Given the description of an element on the screen output the (x, y) to click on. 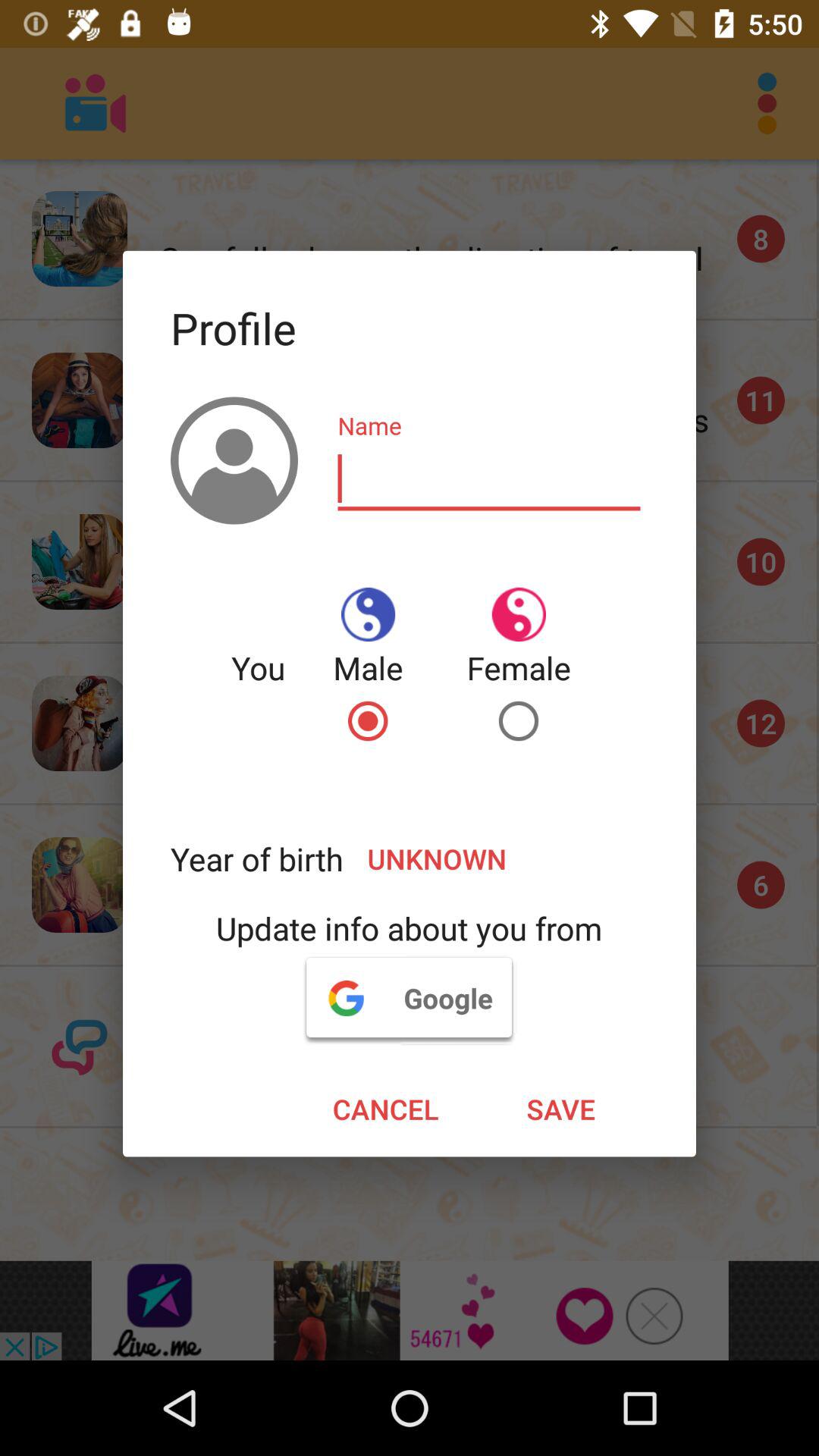
select the item next to the save (385, 1108)
